Given the description of an element on the screen output the (x, y) to click on. 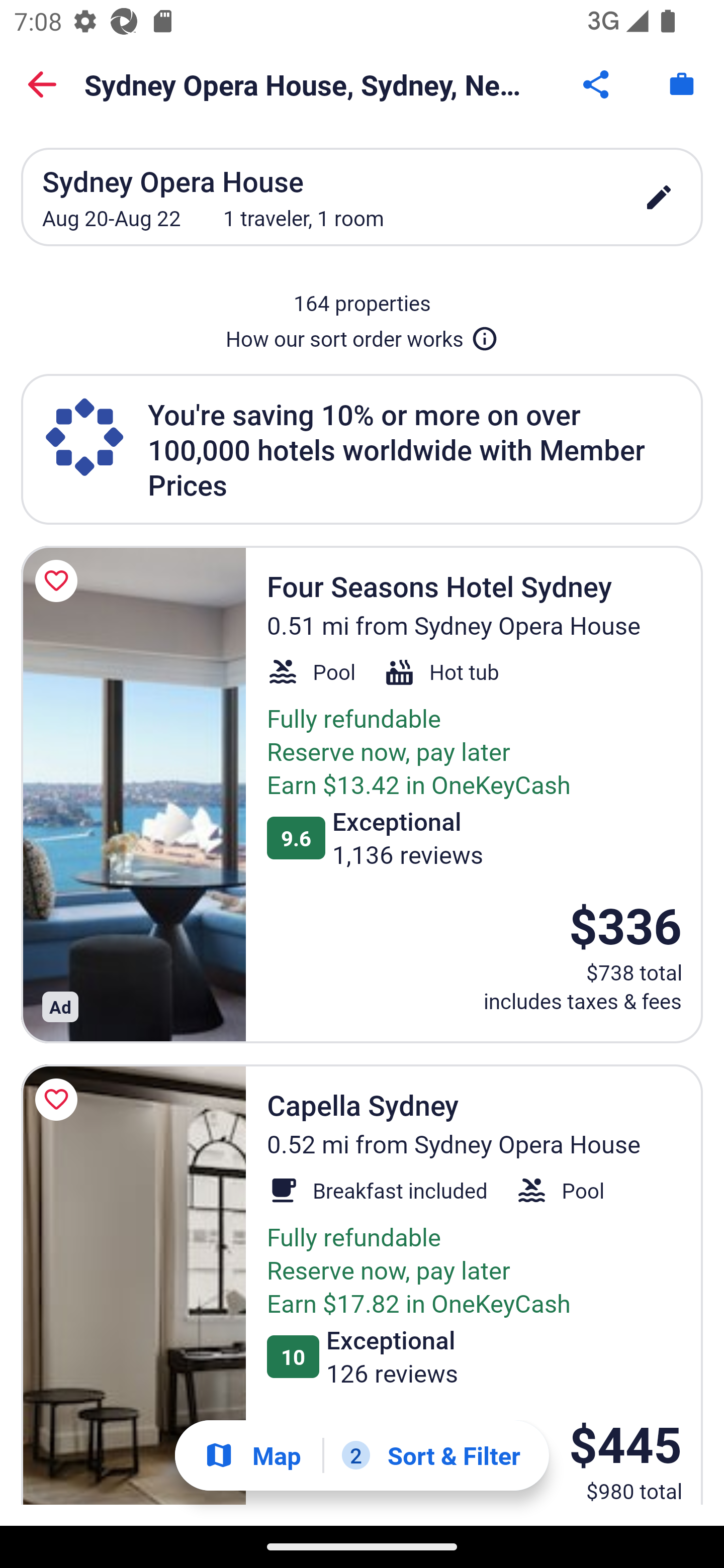
Back (42, 84)
Share Button (597, 84)
Trips. Button (681, 84)
How our sort order works (361, 334)
Save Four Seasons Hotel Sydney to a trip (59, 580)
Four Seasons Hotel Sydney (133, 793)
Save Capella Sydney to a trip (59, 1098)
Capella Sydney (133, 1284)
2 Sort & Filter 2 Filters applied. Filters Button (430, 1455)
Show map Map Show map Button (252, 1455)
